Given the description of an element on the screen output the (x, y) to click on. 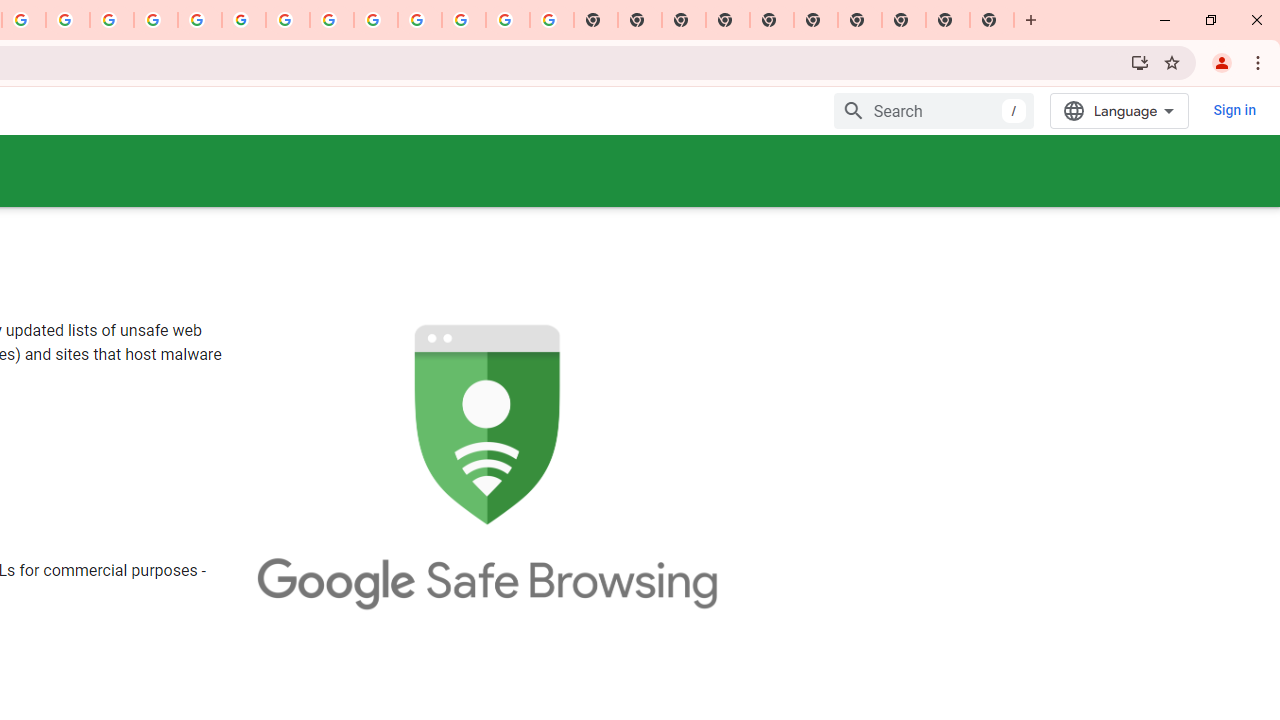
Language (1119, 110)
YouTube (287, 20)
New Tab (728, 20)
